Given the description of an element on the screen output the (x, y) to click on. 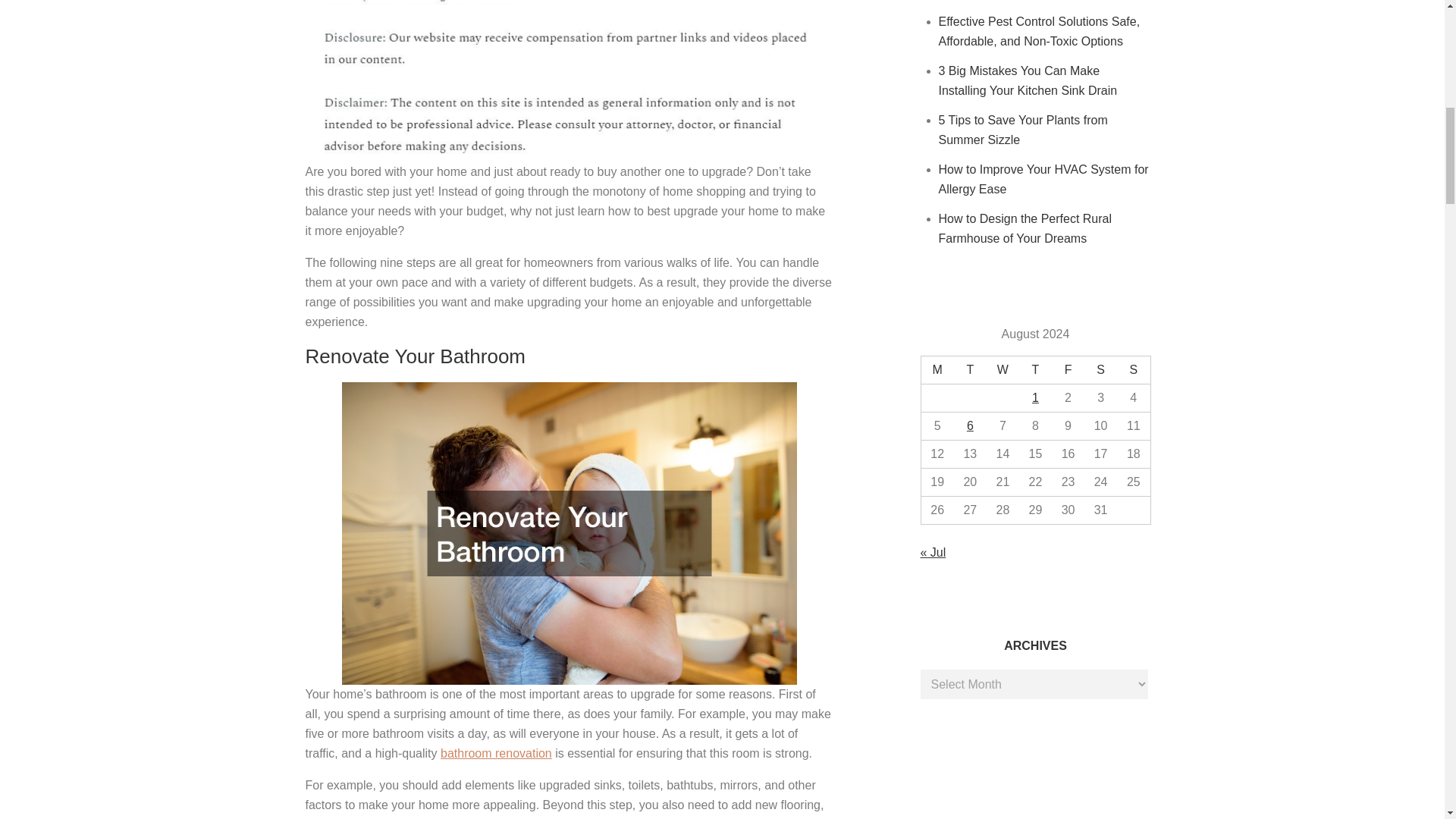
Tuesday (970, 370)
5 Tips to Save Your Plants from Summer Sizzle (1023, 129)
Monday (936, 370)
Saturday (1100, 370)
How to Design the Perfect Rural Farmhouse of Your Dreams (1025, 228)
bathroom renovation (496, 753)
Friday (1067, 370)
Thursday (1035, 370)
